Given the description of an element on the screen output the (x, y) to click on. 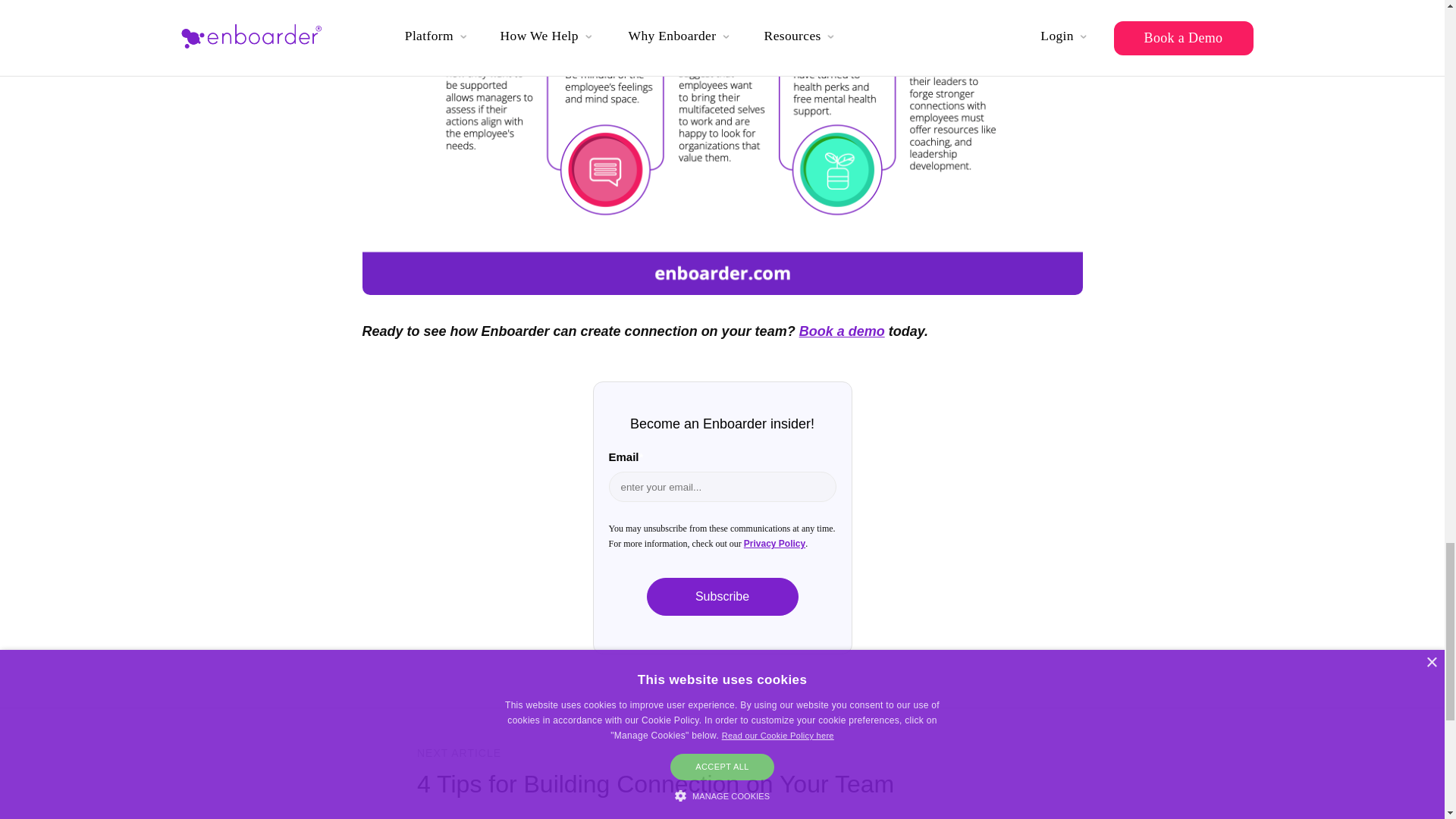
Subscribe (721, 596)
Privacy Policy (774, 543)
Subscribe (721, 596)
Book a demo (842, 331)
